Given the description of an element on the screen output the (x, y) to click on. 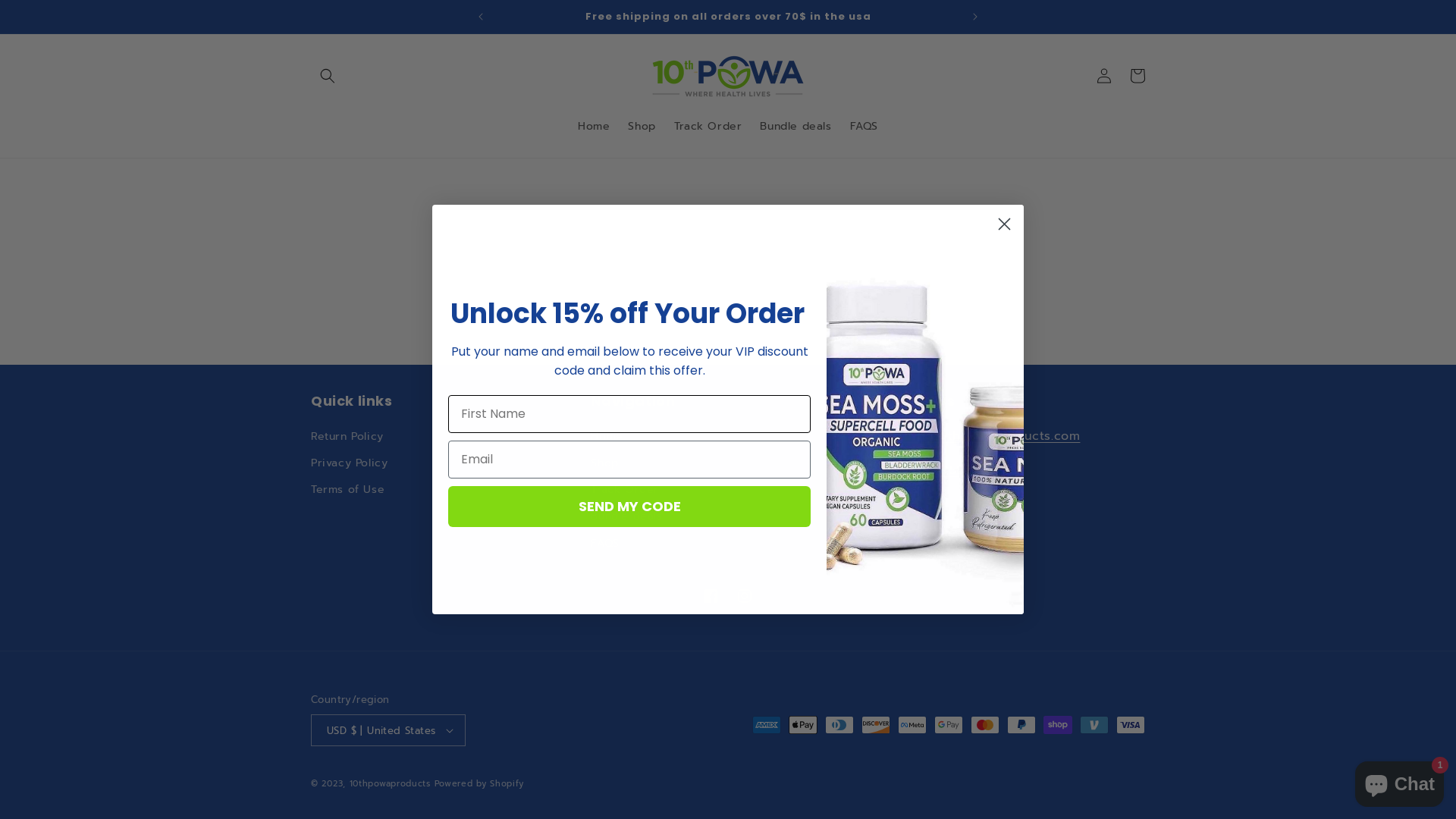
Facebook Element type: text (711, 595)
Bundle deals Element type: text (795, 126)
Shopify online store chat Element type: hover (1399, 780)
Shop Element type: text (604, 462)
+1-877-717-9587 Element type: text (921, 470)
Close dialog 1 Element type: text (1004, 223)
Track Order Element type: text (624, 489)
Cart Element type: text (1137, 75)
Privacy Policy Element type: text (348, 462)
Terms of Use Element type: text (347, 489)
Home Element type: text (606, 437)
Home Element type: text (593, 126)
FAQS Element type: text (863, 126)
Bundle deals Element type: text (626, 515)
Submit Element type: text (21, 7)
SEND MY CODE Element type: text (629, 505)
Shop Element type: text (641, 126)
USD $ | United States Element type: text (387, 730)
Log in Element type: text (1103, 75)
Return Policy Element type: text (346, 437)
Support@10thpowaproducts.com Element type: text (975, 435)
FAQS Element type: text (604, 543)
Track Order Element type: text (708, 126)
Powered by Shopify Element type: text (479, 783)
Instagram Element type: text (744, 595)
10thpowaproducts Element type: text (389, 783)
